Given the description of an element on the screen output the (x, y) to click on. 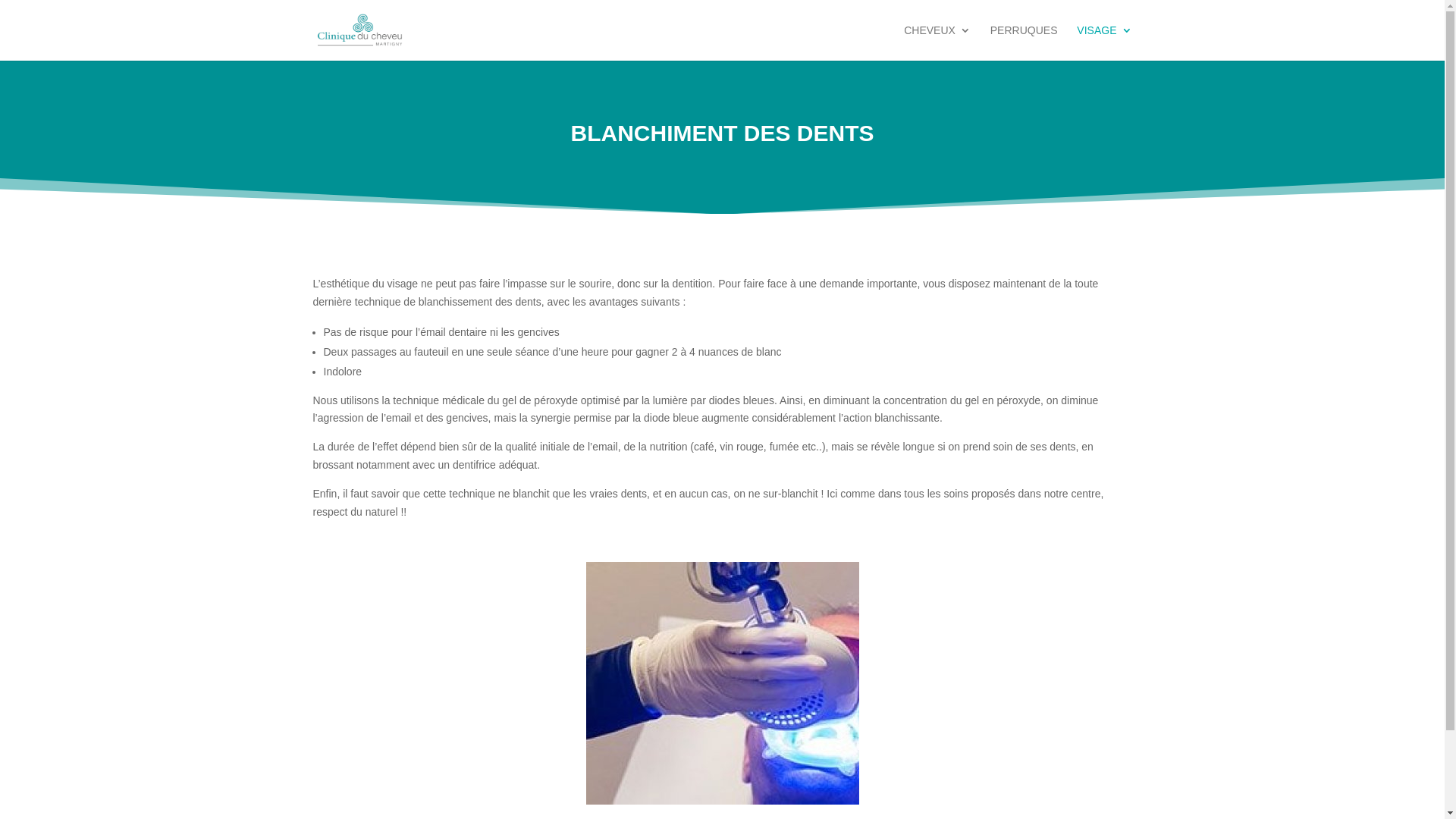
VISAGE Element type: text (1103, 42)
PERRUQUES Element type: text (1023, 42)
CHEVEUX Element type: text (936, 42)
